Given the description of an element on the screen output the (x, y) to click on. 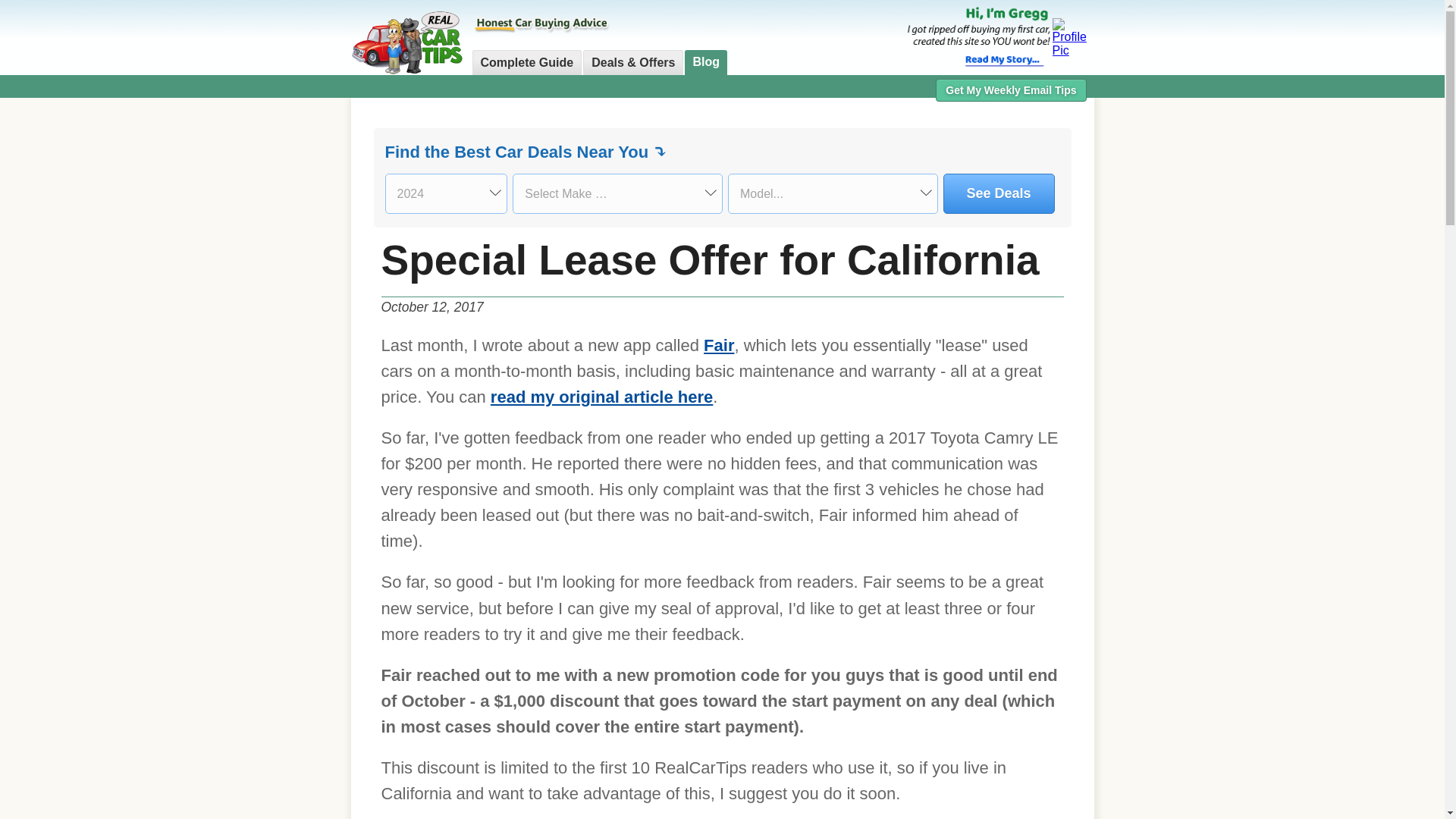
Blog (706, 61)
See Deals (998, 193)
read my original article here (601, 396)
Fair (718, 344)
Get My Weekly Email Tips (1011, 89)
Complete Guide (526, 62)
